Given the description of an element on the screen output the (x, y) to click on. 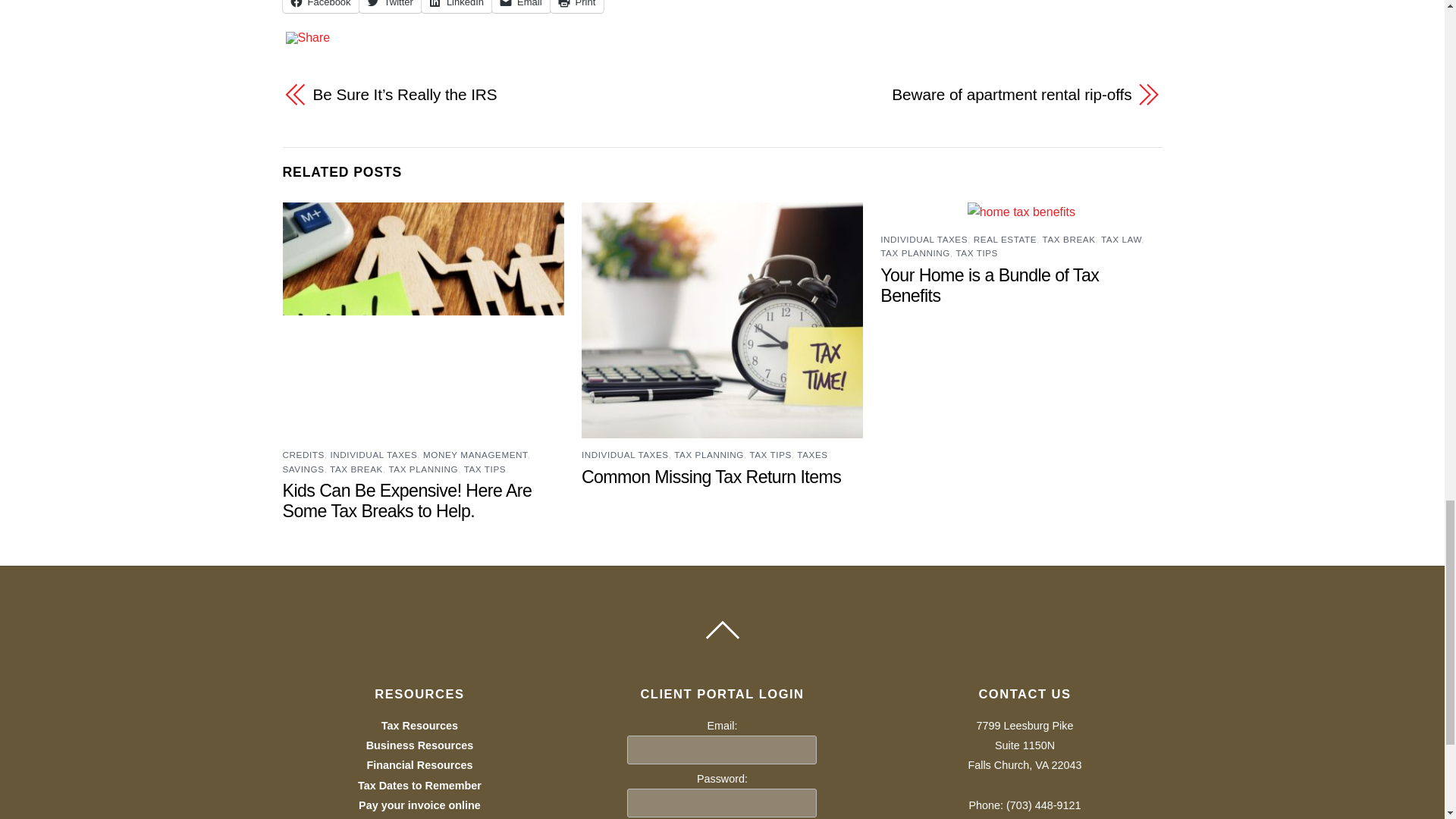
LinkedIn (457, 6)
Click to print (577, 6)
Click to email a link to a friend (521, 6)
Print (577, 6)
Click to share on LinkedIn (457, 6)
Click to share on Twitter (390, 6)
Facebook (320, 6)
Your Home is a Bundle of Tax Benefits (989, 285)
Email (521, 6)
Kids Can Be Expensive! Here Are Some Tax Breaks to Help. (406, 500)
